Given the description of an element on the screen output the (x, y) to click on. 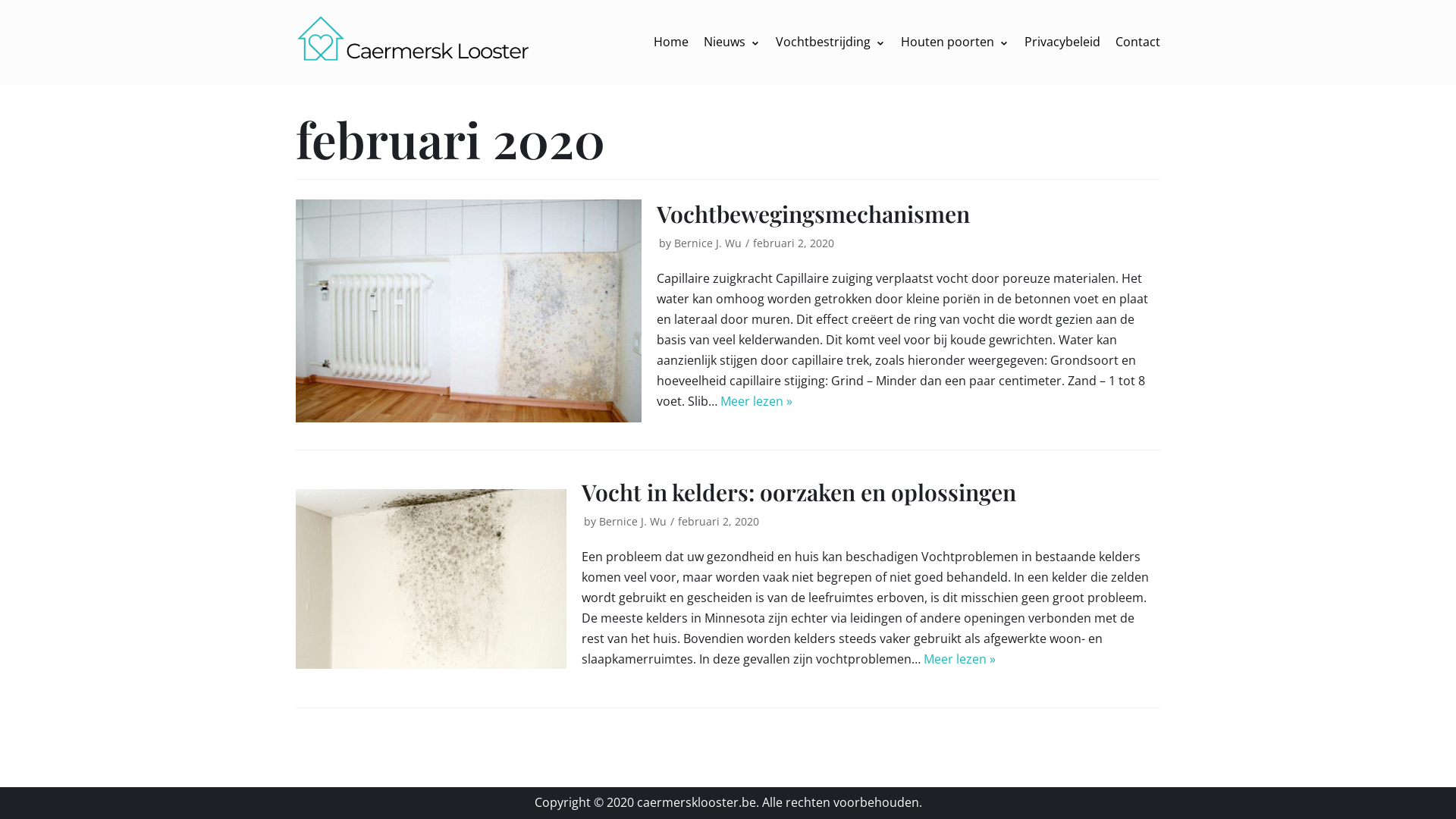
Vochtbewegingsmechanismen Element type: hover (468, 310)
Privacybeleid Element type: text (1062, 42)
Bernice J. Wu Element type: text (632, 521)
Caermersklooster Element type: hover (415, 41)
Home Element type: text (670, 42)
Houten poorten Element type: text (954, 42)
Vochtbestrijding Element type: text (830, 42)
Vocht in kelders: oorzaken en oplossingen Element type: text (798, 491)
Bernice J. Wu Element type: text (707, 242)
Vochtbewegingsmechanismen Element type: text (812, 213)
Spring naar de inhoud Element type: text (15, 7)
Vocht in kelders: oorzaken en oplossingen Element type: hover (430, 578)
Nieuws Element type: text (731, 42)
Contact Element type: text (1137, 42)
